Given the description of an element on the screen output the (x, y) to click on. 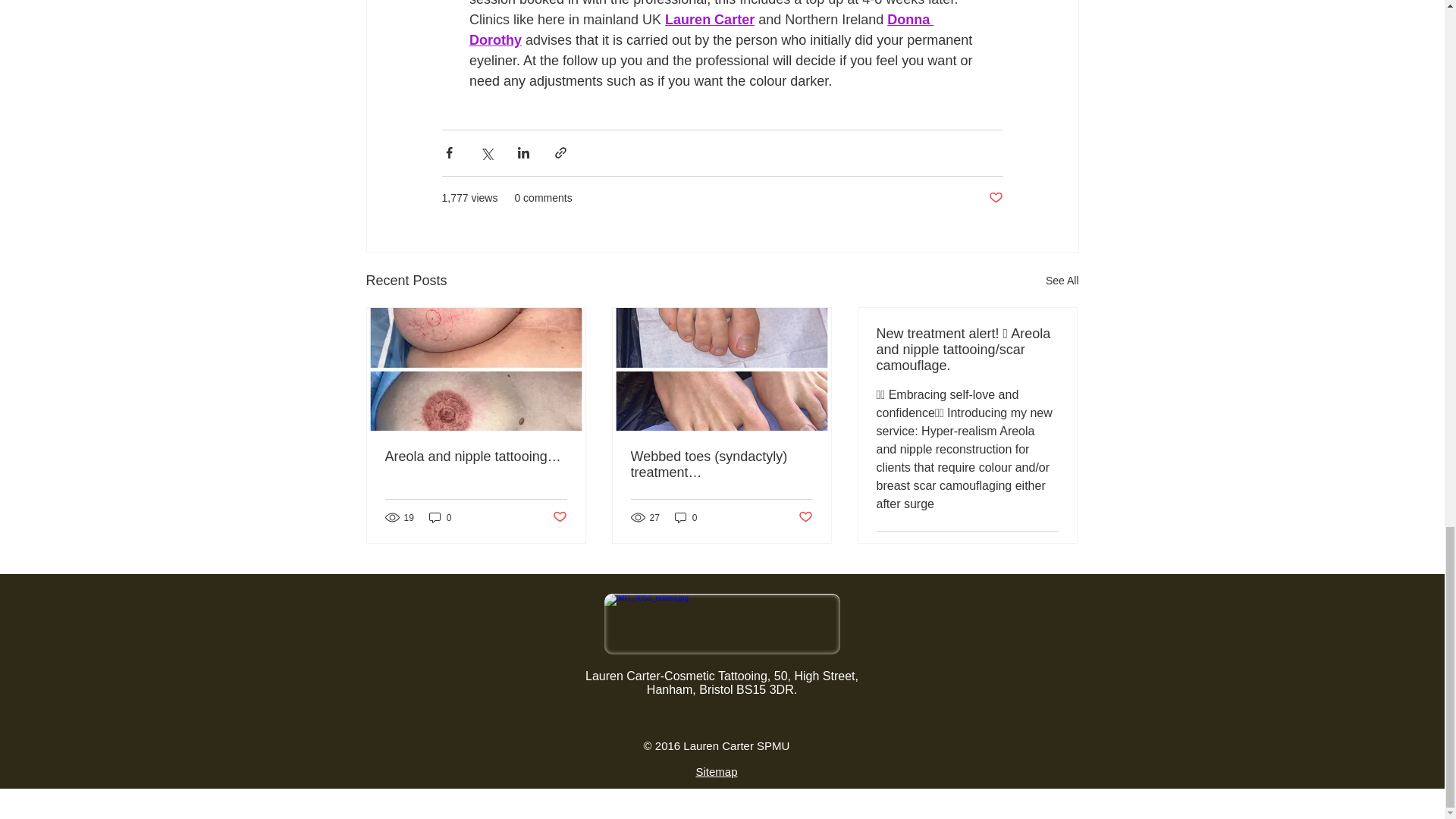
Lauren Carter (709, 19)
Post not marked as liked (995, 198)
See All (1061, 280)
Donna Dorothy (700, 29)
